Given the description of an element on the screen output the (x, y) to click on. 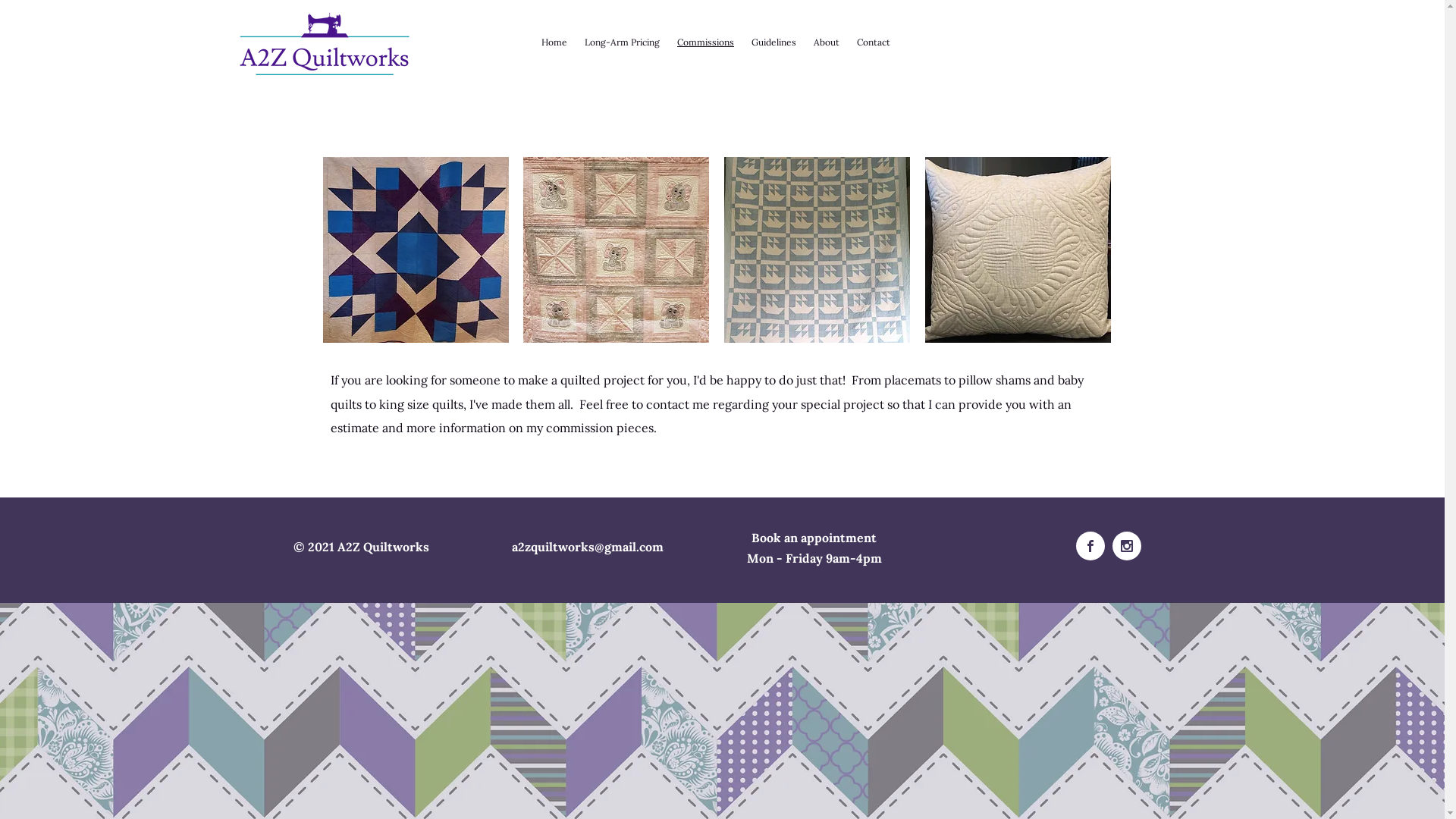
Home Element type: text (553, 42)
Guidelines Element type: text (774, 42)
a2zquiltworks@gmail.com Element type: text (586, 546)
Long-Arm Pricing Element type: text (622, 42)
About Element type: text (826, 42)
Commissions Element type: text (705, 42)
Contact Element type: text (872, 42)
